Given the description of an element on the screen output the (x, y) to click on. 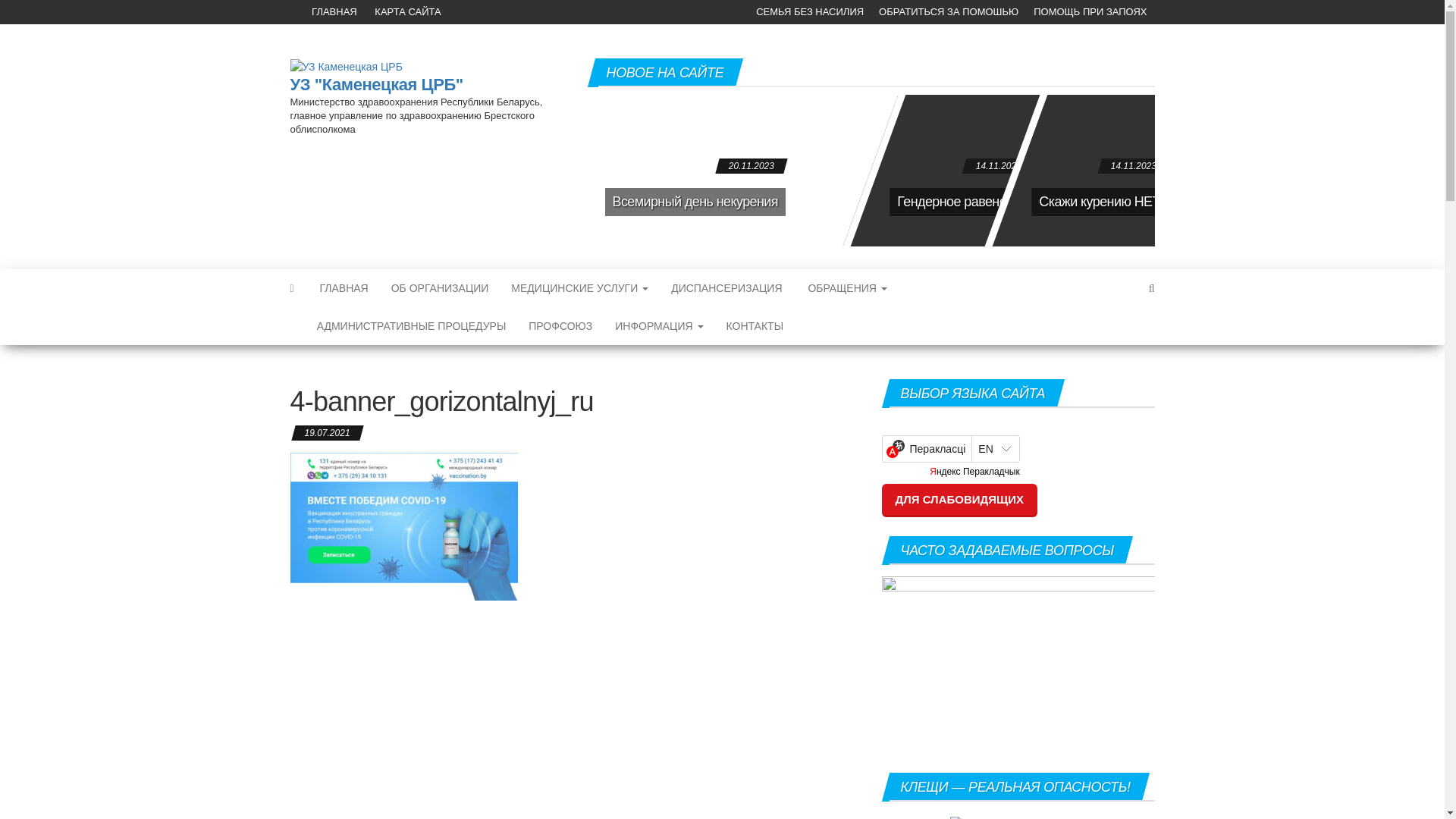
English Element type: hover (925, 425)
Belarusian Element type: hover (889, 425)
German Element type: hover (943, 425)
Russian Element type: hover (907, 425)
